Given the description of an element on the screen output the (x, y) to click on. 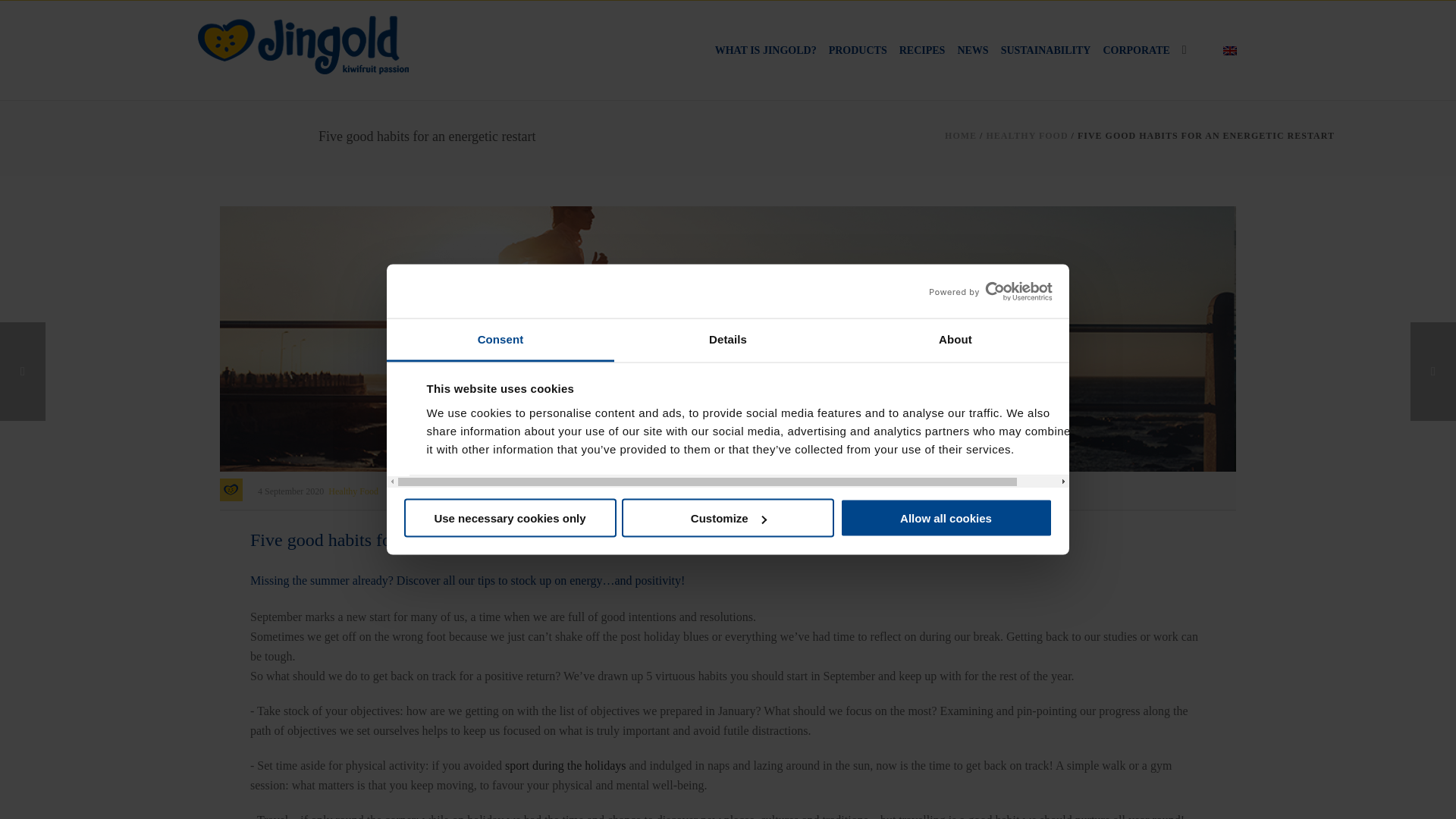
PRODUCTS (857, 50)
WHAT IS JINGOLD? (765, 50)
Jingold (302, 42)
Details (727, 339)
Allow all cookies (946, 517)
About (954, 339)
Use necessary cookies only (509, 517)
Customize (727, 517)
Consent (500, 339)
